Given the description of an element on the screen output the (x, y) to click on. 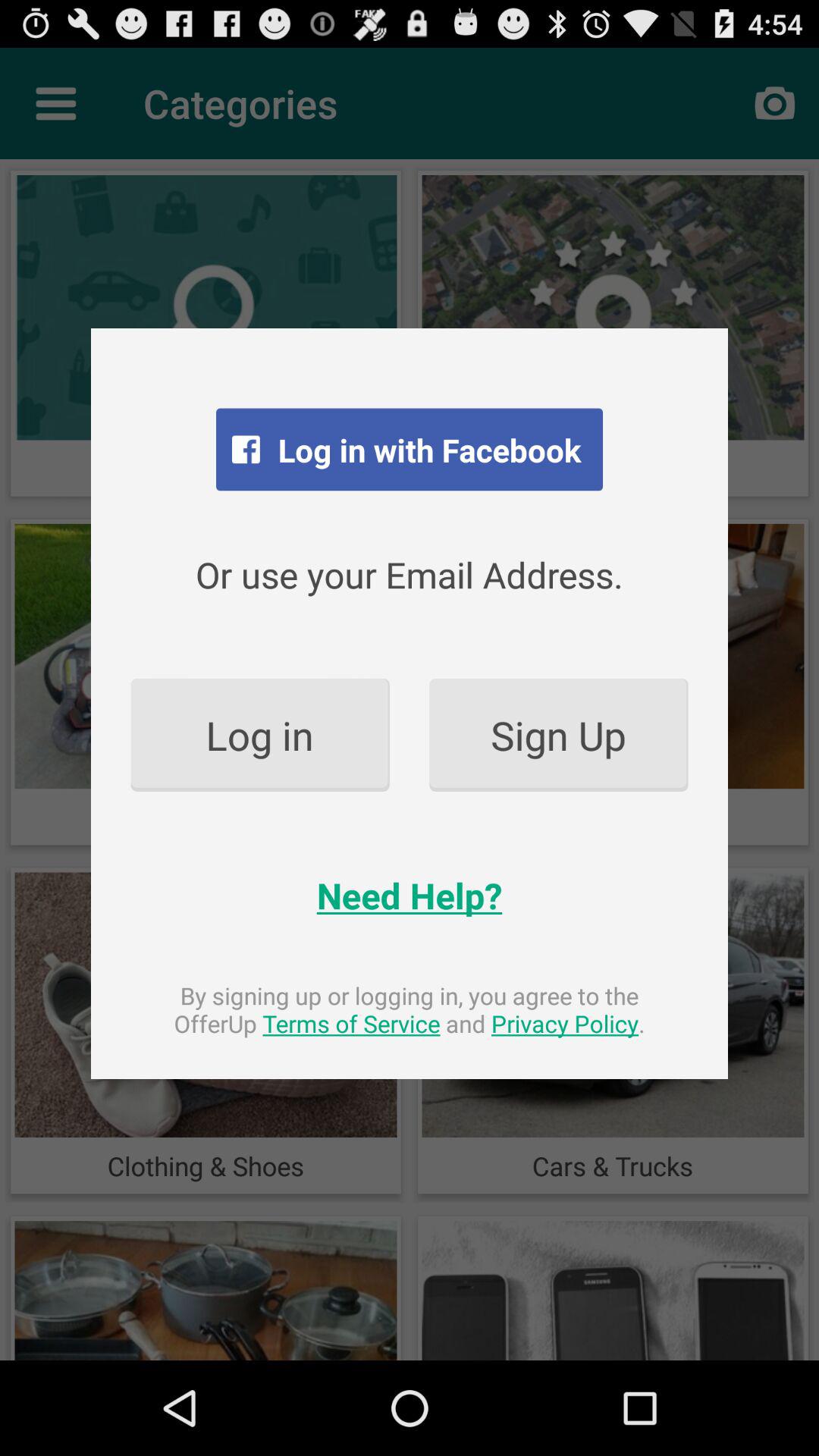
press app below the need help? icon (409, 1009)
